Given the description of an element on the screen output the (x, y) to click on. 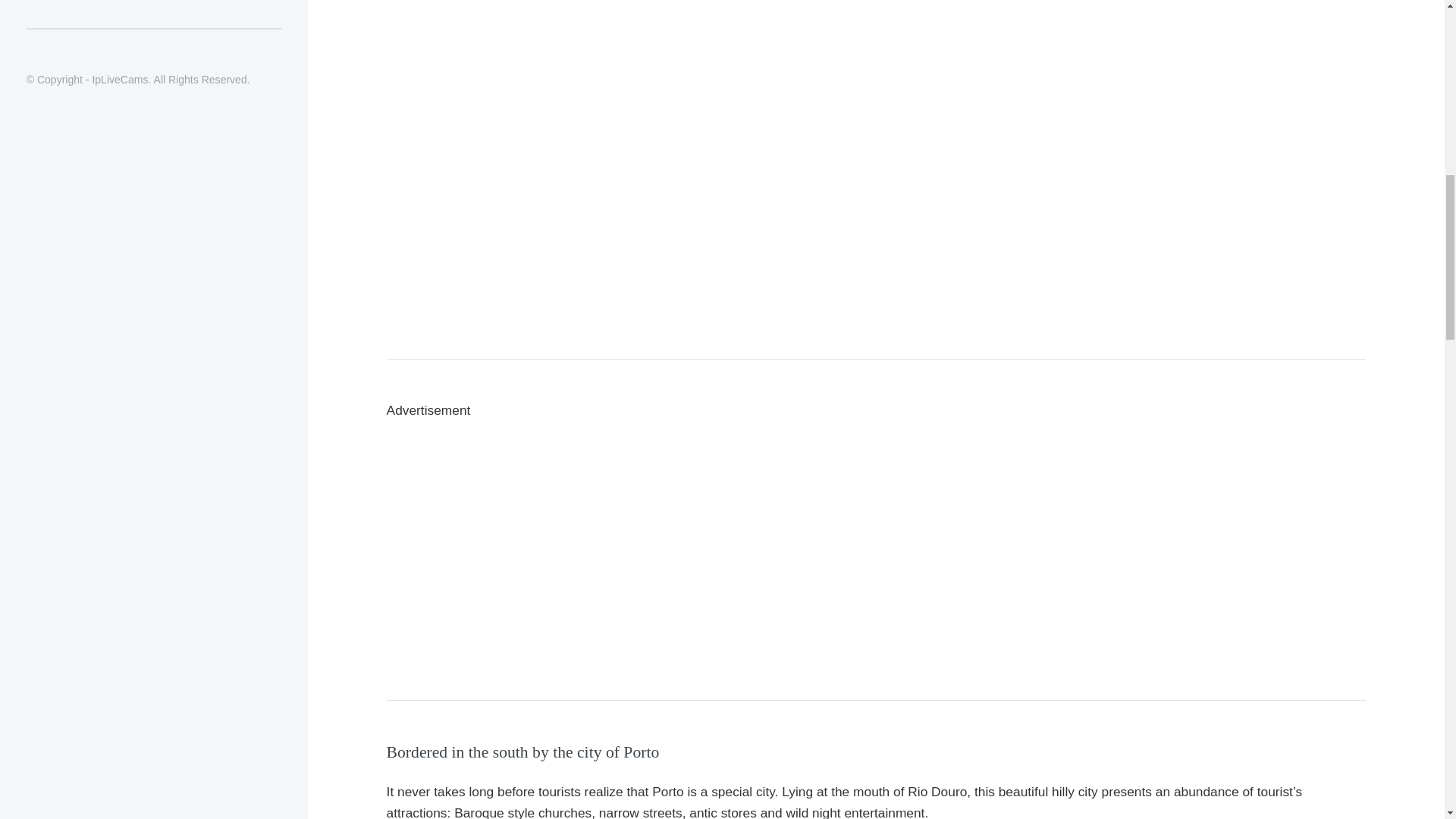
Advertisement (153, 14)
